Given the description of an element on the screen output the (x, y) to click on. 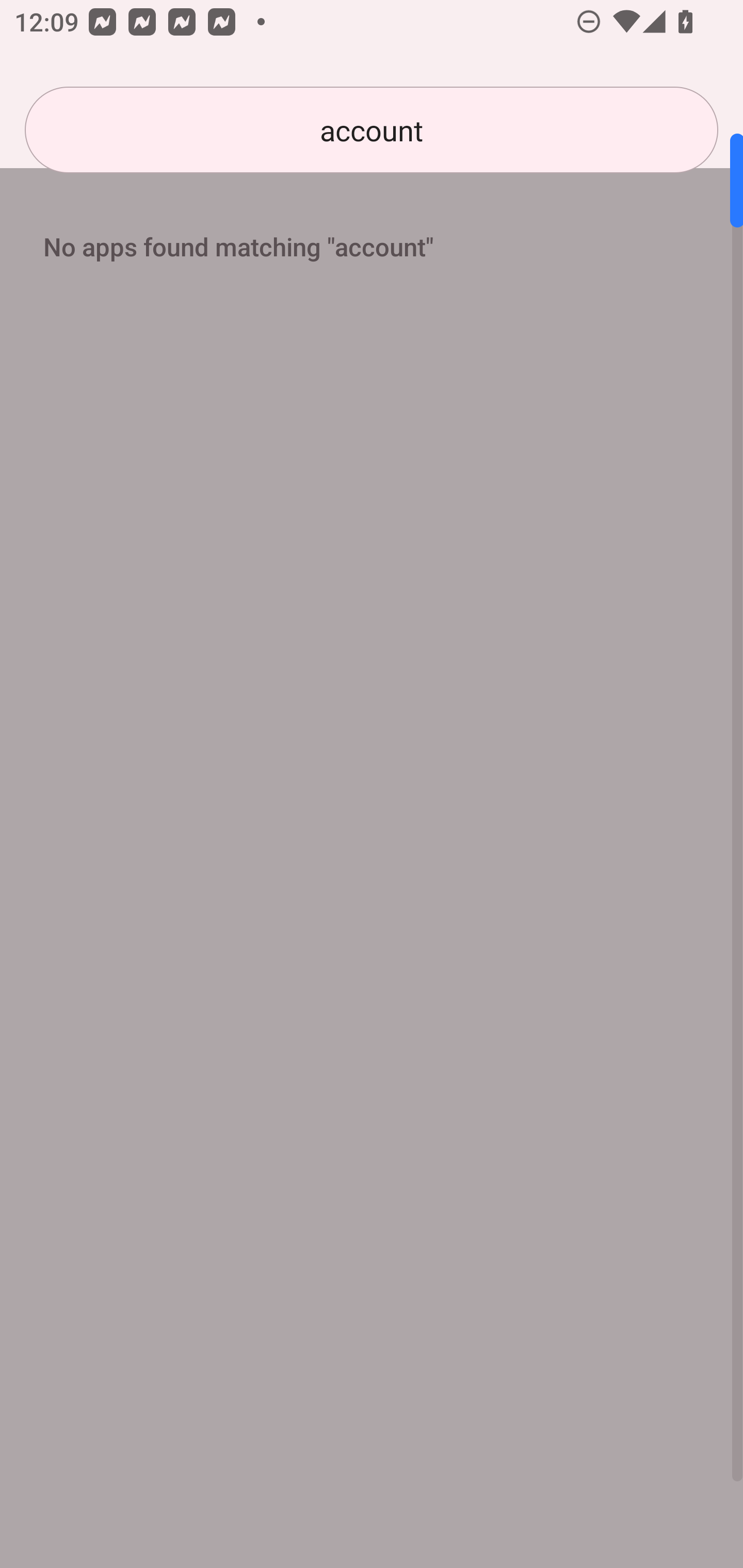
account (371, 130)
